Given the description of an element on the screen output the (x, y) to click on. 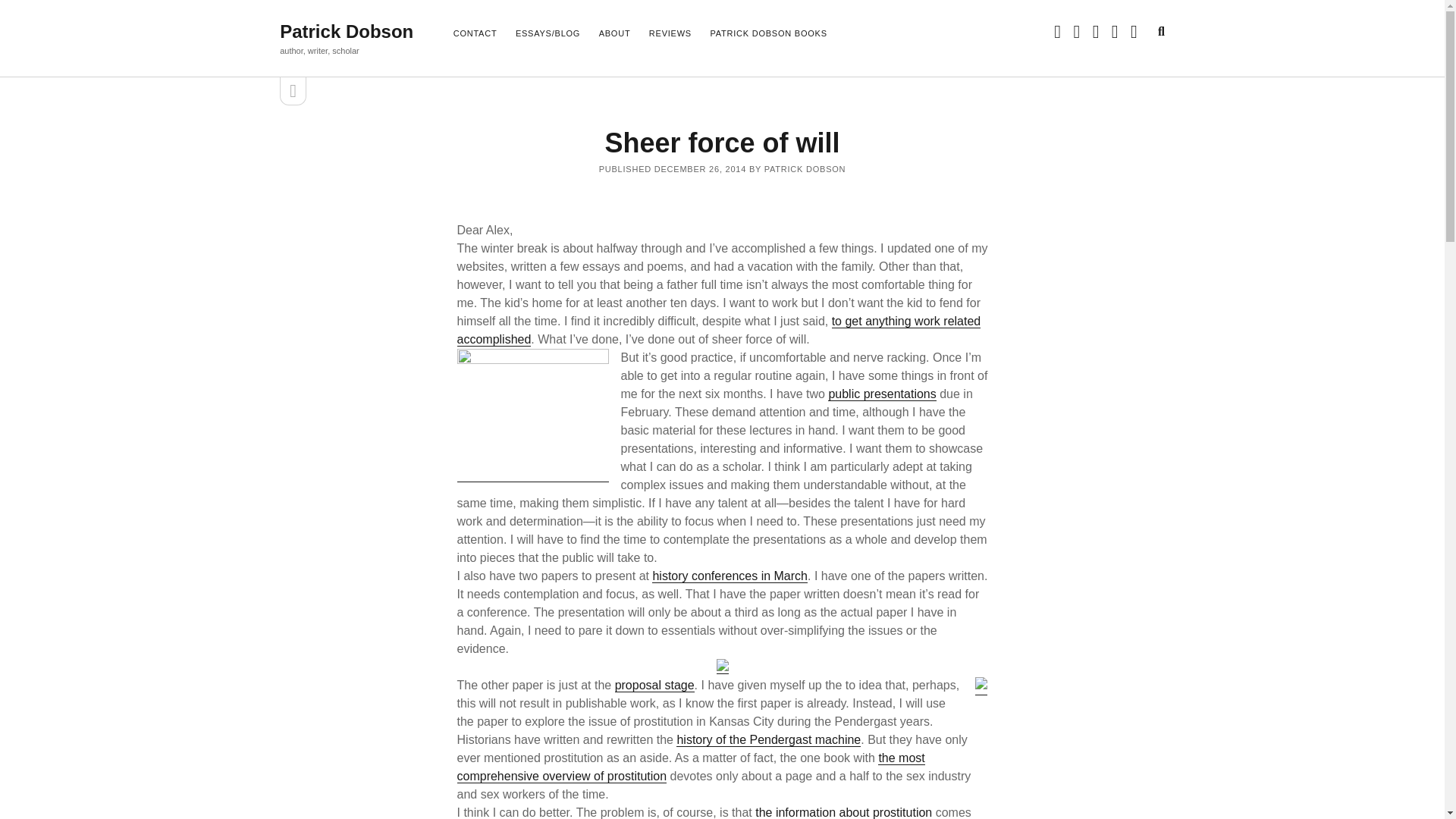
CONTACT (474, 33)
Patrick Dobson (346, 31)
PATRICK DOBSON BOOKS (768, 33)
ABOUT (614, 33)
REVIEWS (670, 33)
open sidebar (292, 90)
Subscribe (416, 396)
